Given the description of an element on the screen output the (x, y) to click on. 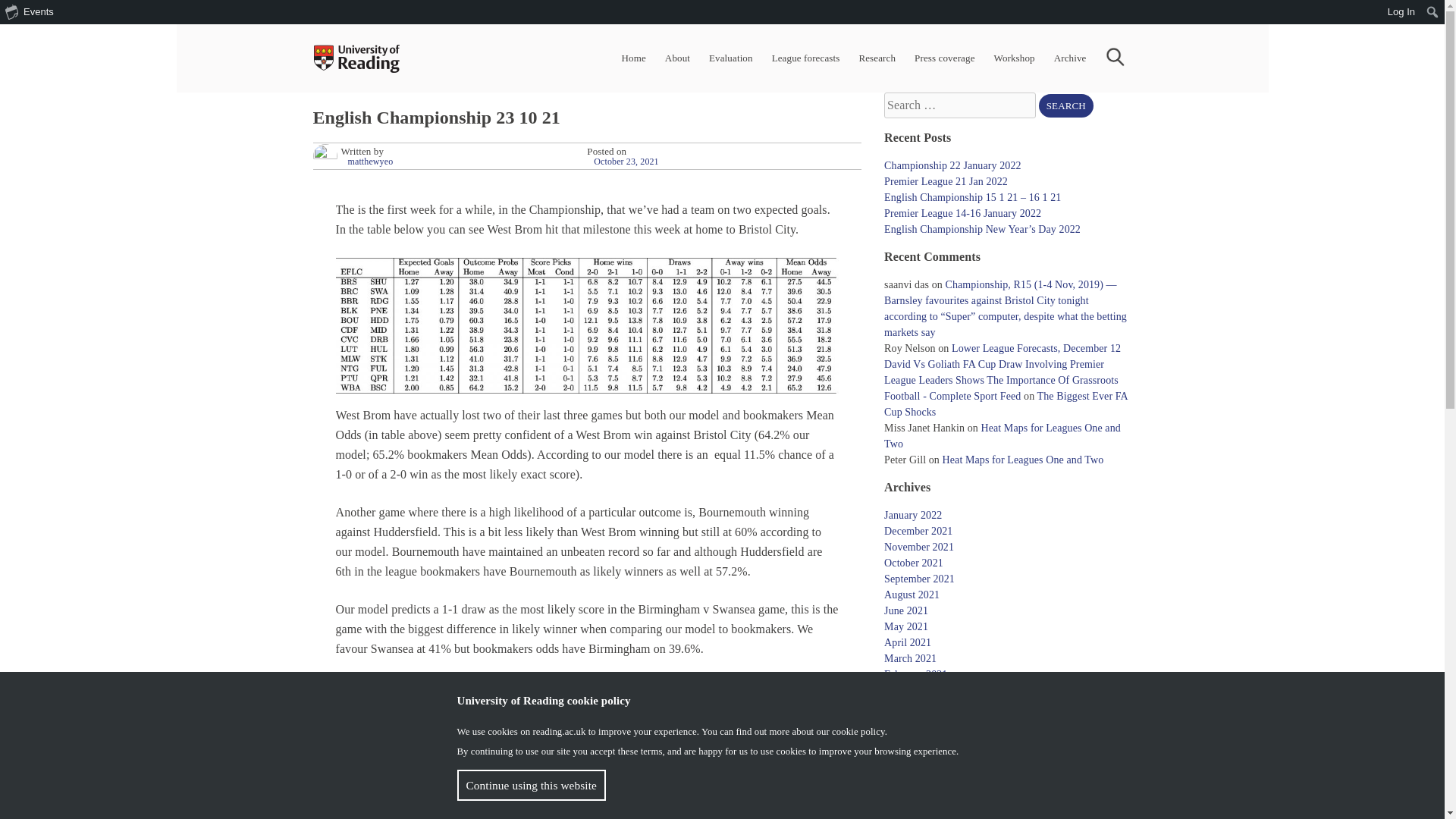
Lower League Forecasts, December 12 (1036, 348)
Heat Maps for Leagues One and Two (1002, 435)
Premier League 14-16 January 2022 (962, 213)
June 2021 (905, 610)
April 2021 (907, 642)
December 2020 (917, 706)
Search (1066, 105)
October 2021 (913, 562)
Championship 22 January 2022 (952, 165)
May 2021 (905, 626)
